Given the description of an element on the screen output the (x, y) to click on. 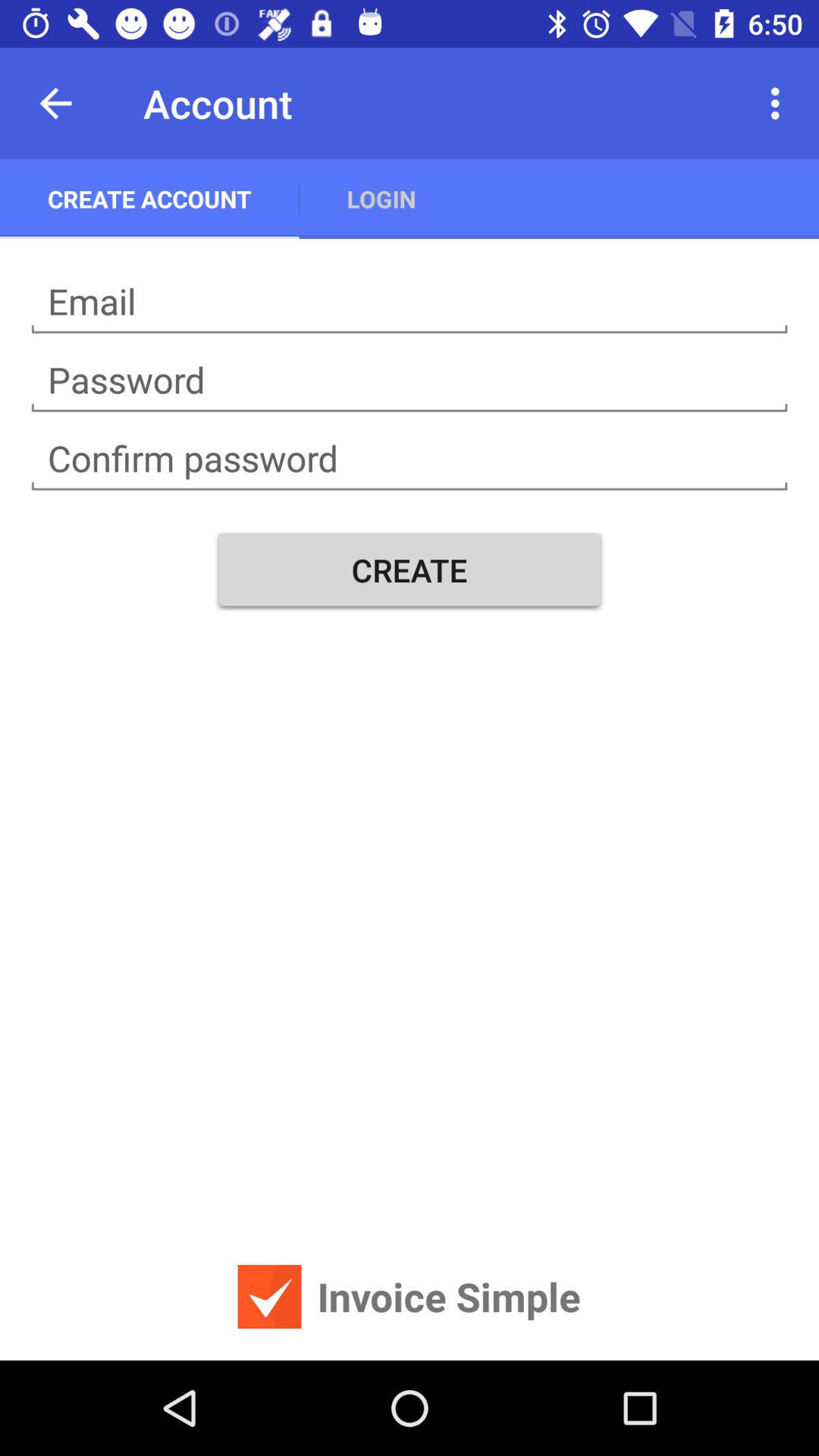
enter email (409, 301)
